Given the description of an element on the screen output the (x, y) to click on. 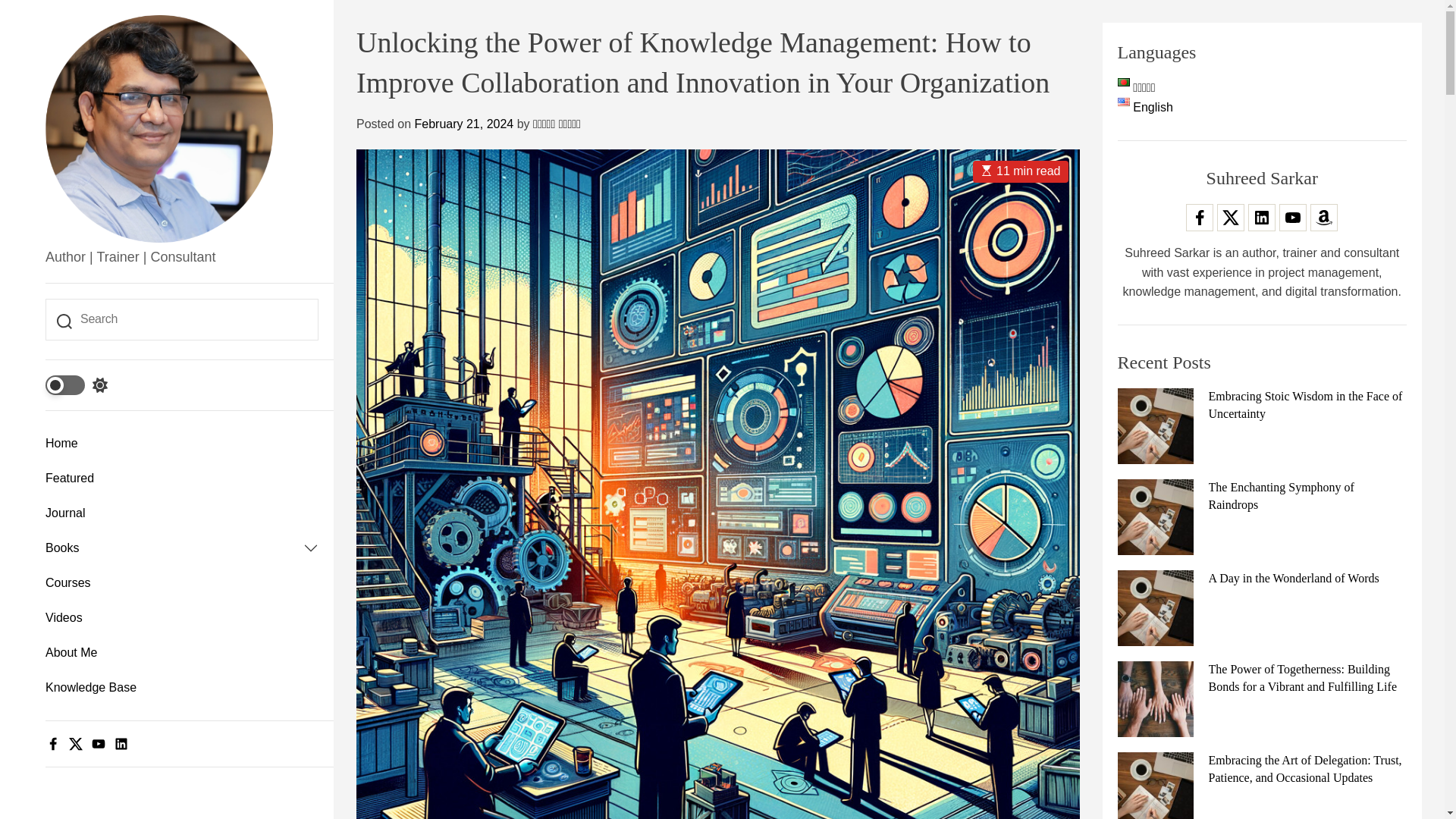
Switch color mode (76, 384)
Twitter (75, 743)
Books (173, 547)
Facebook (53, 743)
Journal (181, 513)
Featured (181, 478)
About Me (181, 652)
Knowledge Base (181, 687)
Courses (181, 582)
Home (181, 443)
Suhreed Sarkar (165, 269)
February 21, 2024 (463, 123)
Linkedin (121, 743)
Youtube (98, 743)
Videos (181, 617)
